Given the description of an element on the screen output the (x, y) to click on. 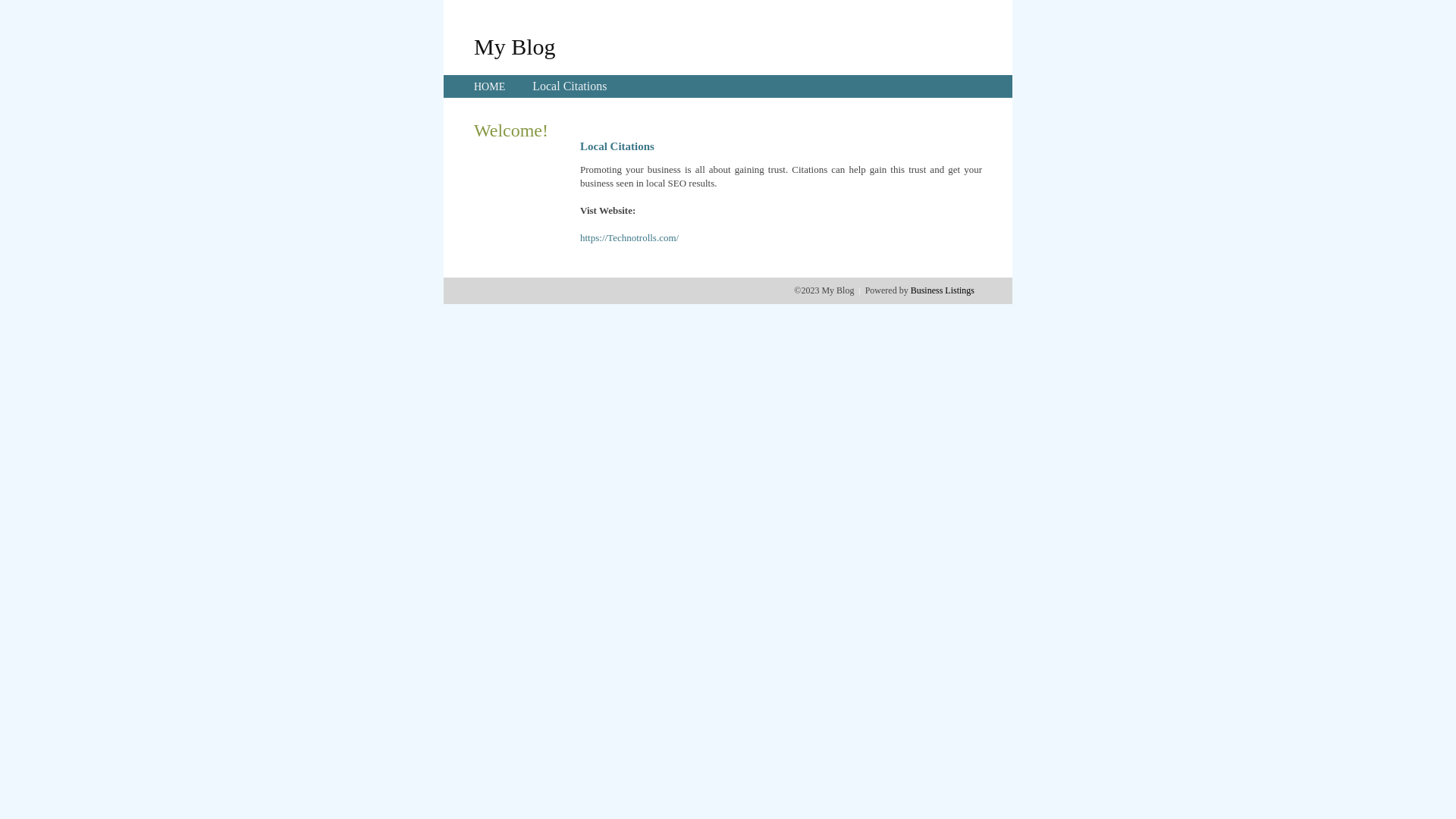
My Blog Element type: text (514, 46)
HOME Element type: text (489, 86)
Business Listings Element type: text (942, 290)
Local Citations Element type: text (569, 85)
https://Technotrolls.com/ Element type: text (629, 237)
